Given the description of an element on the screen output the (x, y) to click on. 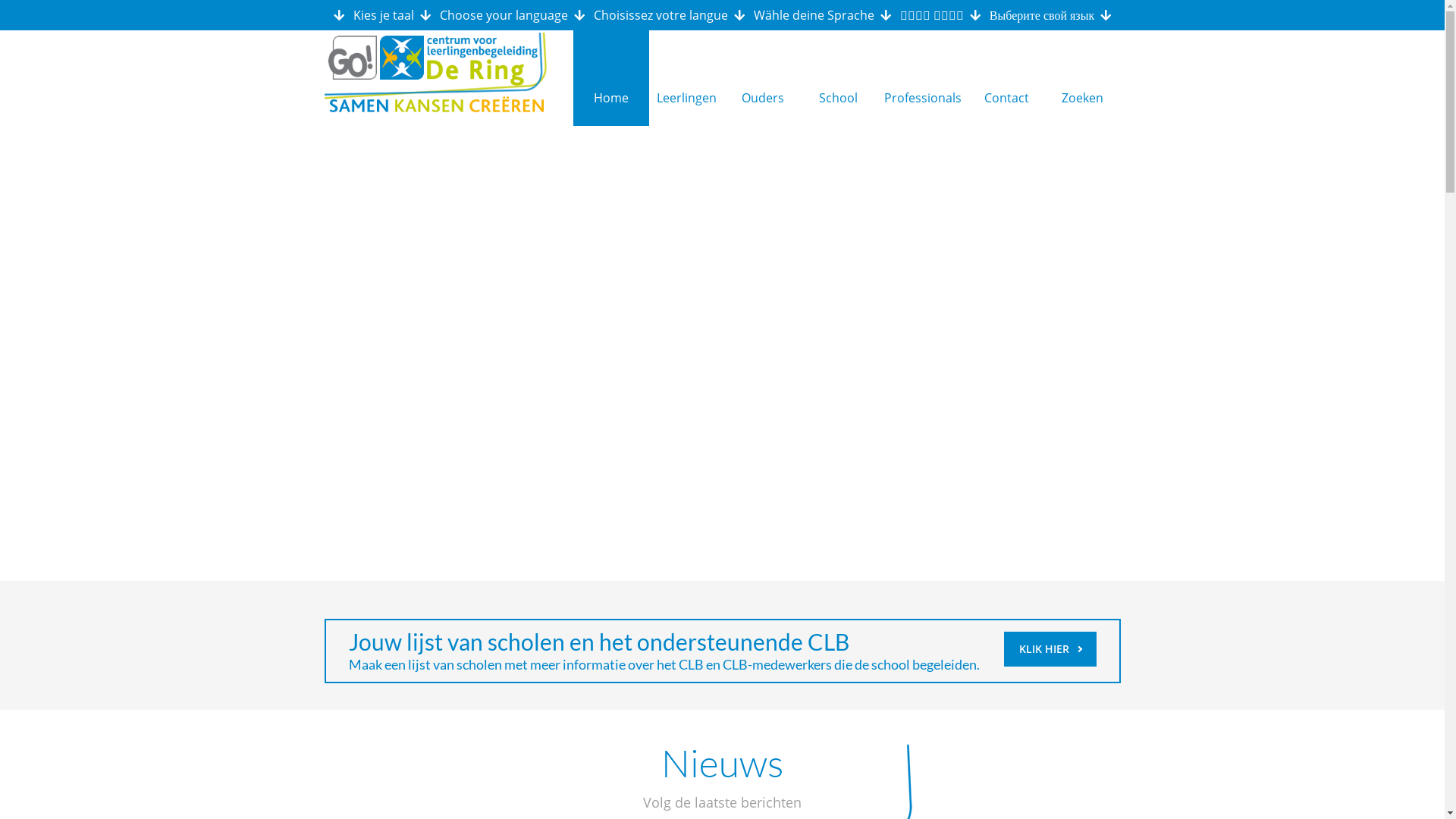
info@clbdering.be Element type: text (1017, 458)
zoek mijn  CLB Element type: text (1007, 536)
http://www.clbdering.be Element type: text (1032, 436)
www.clbchat.be Element type: text (1010, 580)
www.onderwijskiezer.be Element type: text (1032, 558)
Leerlingen Element type: text (686, 77)
Beheer uw cookies Element type: text (747, 788)
Contact Element type: text (1006, 77)
School Element type: text (838, 77)
Professionals Element type: text (922, 77)
Privacy en cookies Element type: text (851, 788)
Home Element type: text (611, 77)
KLIK HIER Element type: text (1050, 648)
Zoeken Element type: text (1082, 77)
Ouders Element type: text (762, 77)
CLB's van het GO! Element type: text (646, 788)
